Given the description of an element on the screen output the (x, y) to click on. 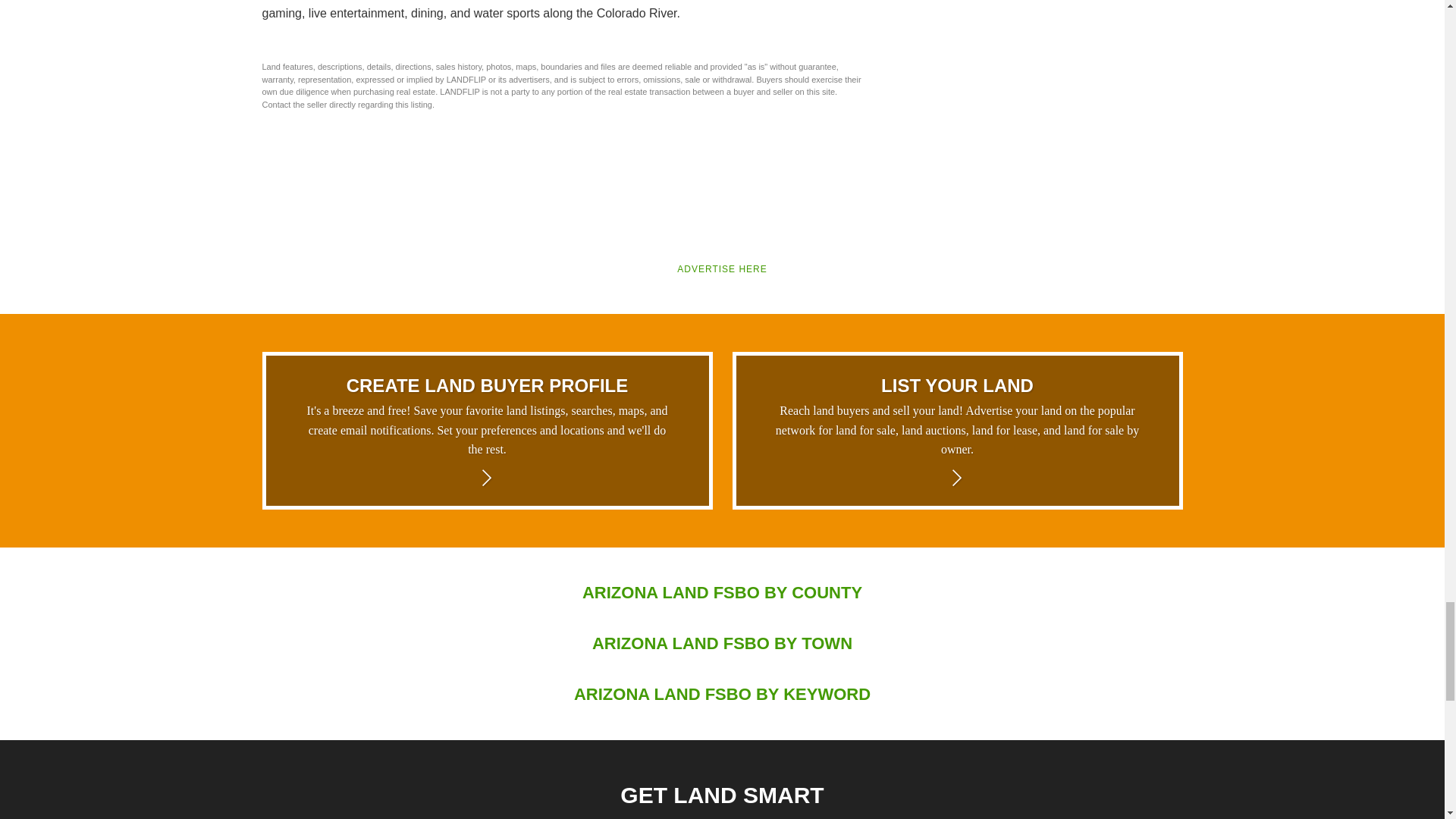
ADVERTISE HERE (722, 268)
